Given the description of an element on the screen output the (x, y) to click on. 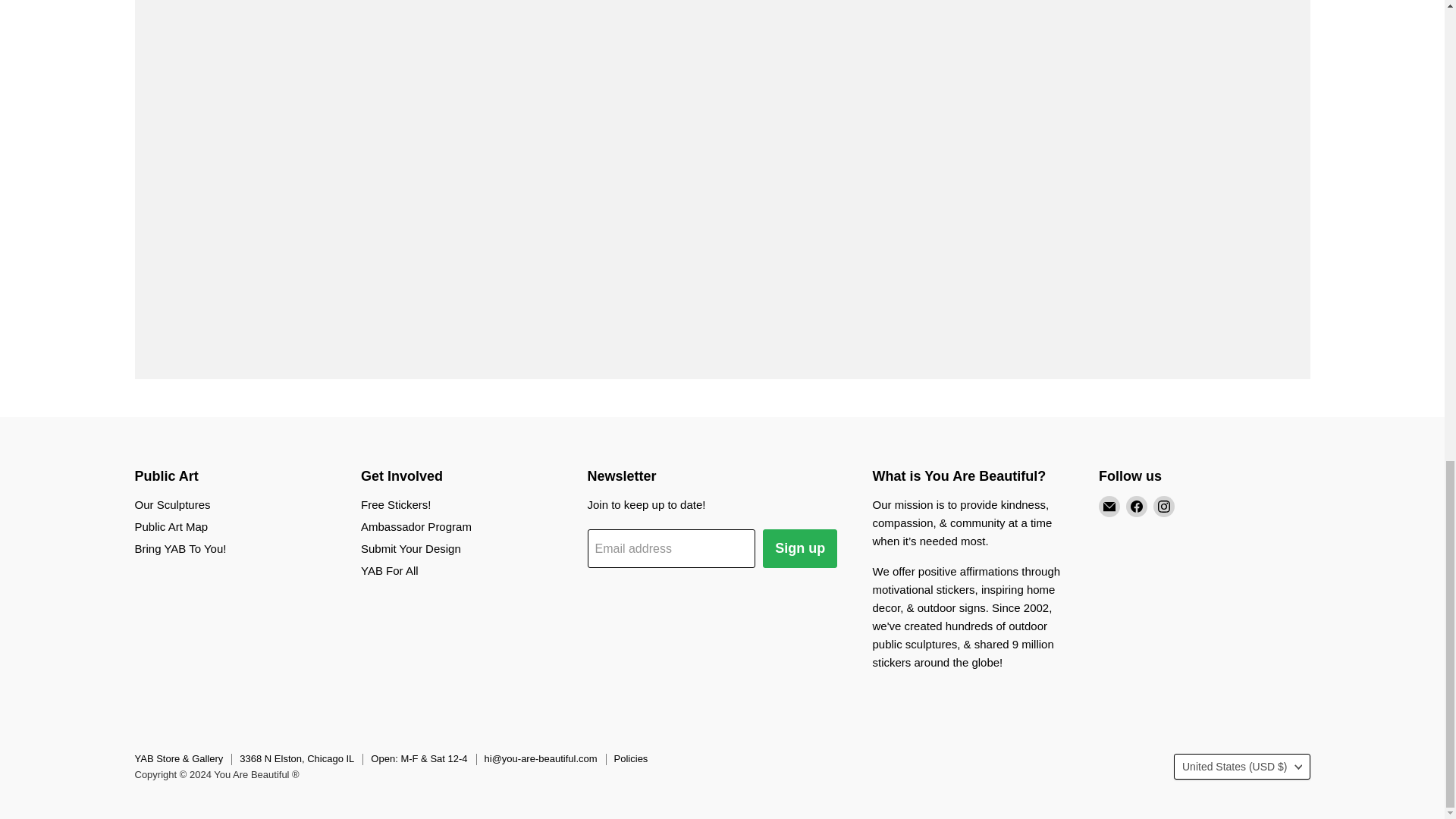
Facebook (1136, 506)
Instagram (1163, 506)
Email (1109, 506)
